Given the description of an element on the screen output the (x, y) to click on. 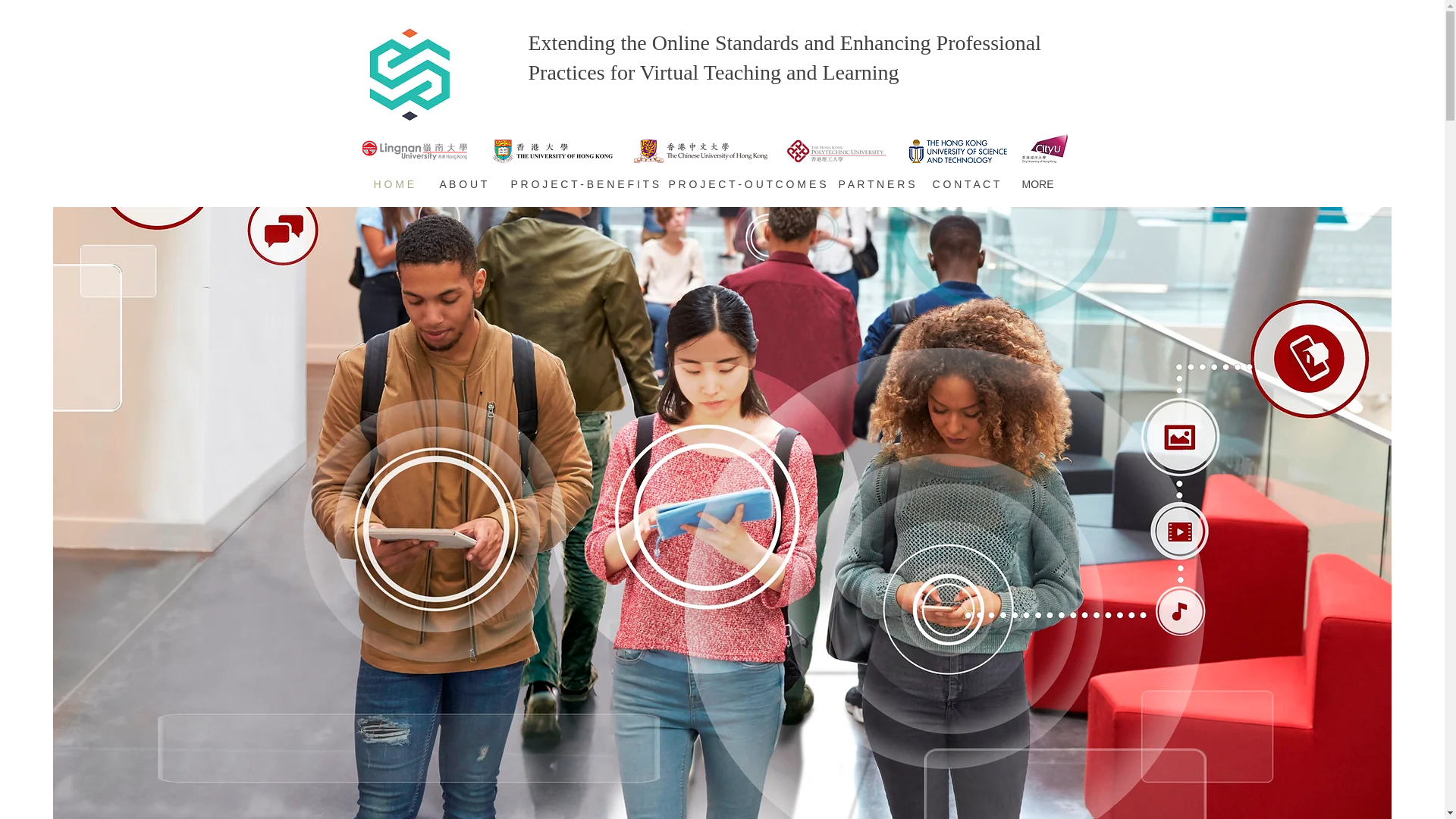
P R O J E C T - B E N E F I T S (577, 184)
H O M E (395, 184)
C O N T A C T (965, 184)
P A R T N E R S (873, 184)
A B O U T (463, 184)
P R O J E C T - O U T C O M E S (741, 184)
